Given the description of an element on the screen output the (x, y) to click on. 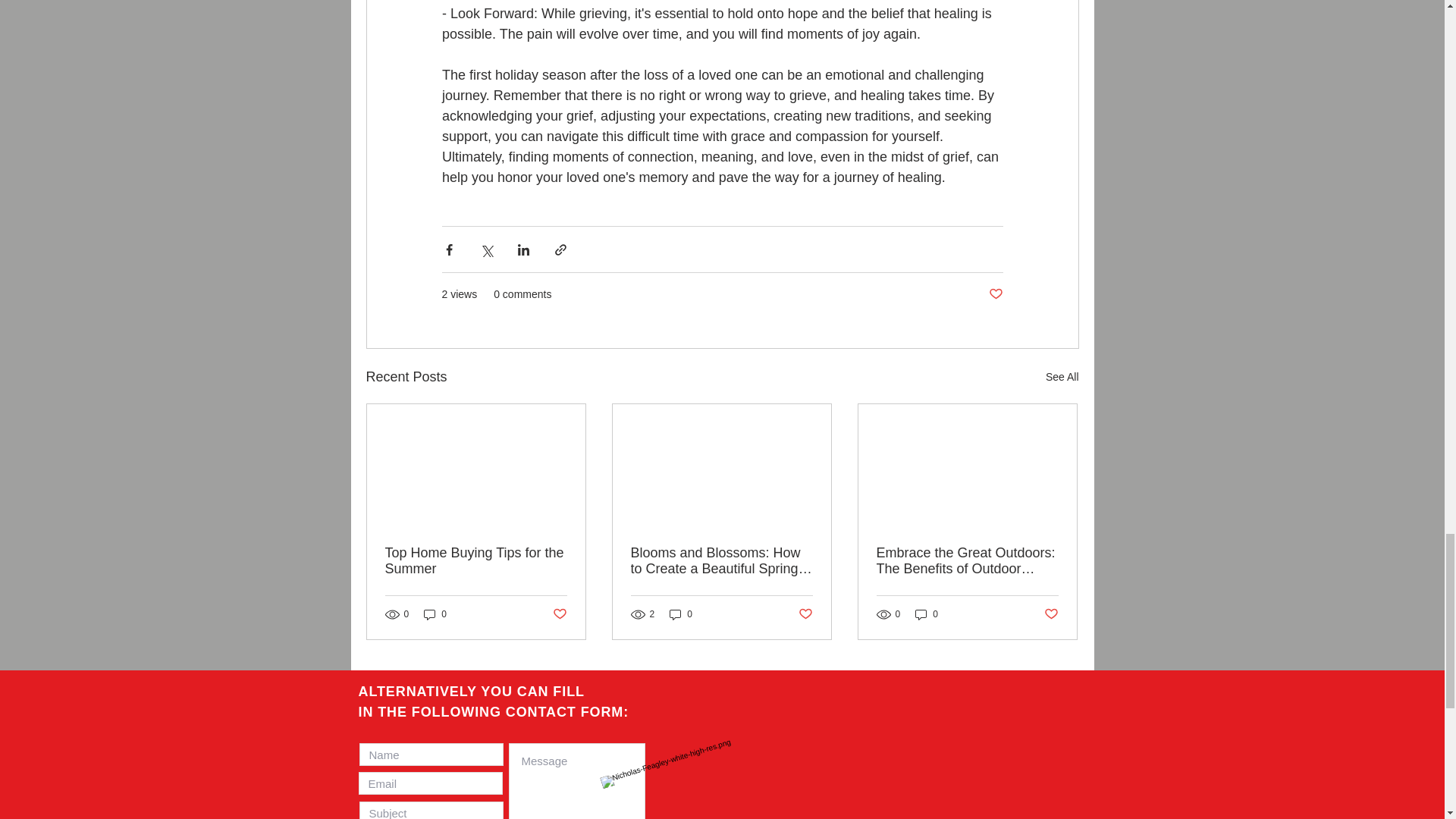
Post not marked as liked (804, 614)
Post not marked as liked (558, 614)
See All (1061, 377)
Top Home Buying Tips for the Summer (476, 561)
Post not marked as liked (995, 294)
0 (435, 614)
0 (681, 614)
0 (926, 614)
